Given the description of an element on the screen output the (x, y) to click on. 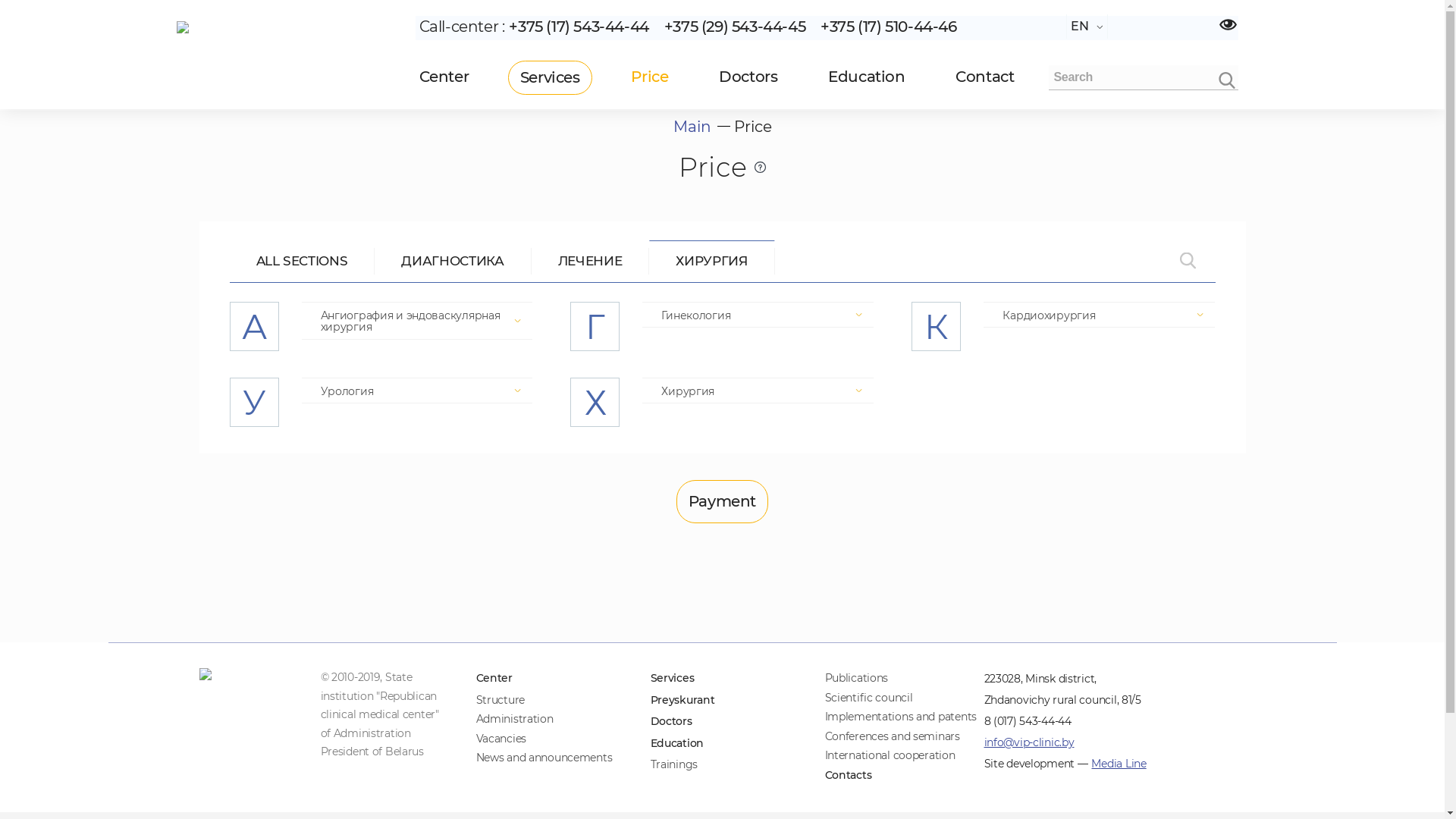
info@vip-clinic.by Element type: text (1029, 742)
Center Element type: text (494, 677)
Trainings Element type: text (673, 764)
Education Element type: text (676, 743)
International cooperation Element type: text (890, 755)
Vacancies Element type: text (501, 738)
Conferences and seminars Element type: text (892, 735)
Implementations and patents Element type: text (900, 716)
Services Element type: text (550, 77)
Administration Element type: text (514, 718)
ALL SECTIONS Element type: text (301, 260)
News and announcements Element type: text (544, 757)
+375 (17) 543-44-44 Element type: text (578, 26)
Scientific council Element type: text (869, 697)
Structure Element type: text (500, 699)
Contact Element type: text (984, 76)
Services Element type: text (672, 677)
Preyskurant Element type: text (682, 699)
Price Element type: text (649, 76)
Center Element type: text (449, 76)
Contacts Element type: text (848, 774)
+375 (29) 543-44-45 Element type: text (734, 26)
8 (017) 543-44-44 Element type: text (1027, 721)
Doctors Element type: text (671, 721)
Doctors Element type: text (747, 76)
Education Element type: text (866, 76)
+375 (17) 510-44-46 Element type: text (888, 26)
Search Element type: text (1225, 80)
Main Element type: text (692, 126)
Media Line Element type: text (1118, 763)
Publications Element type: text (856, 677)
